Given the description of an element on the screen output the (x, y) to click on. 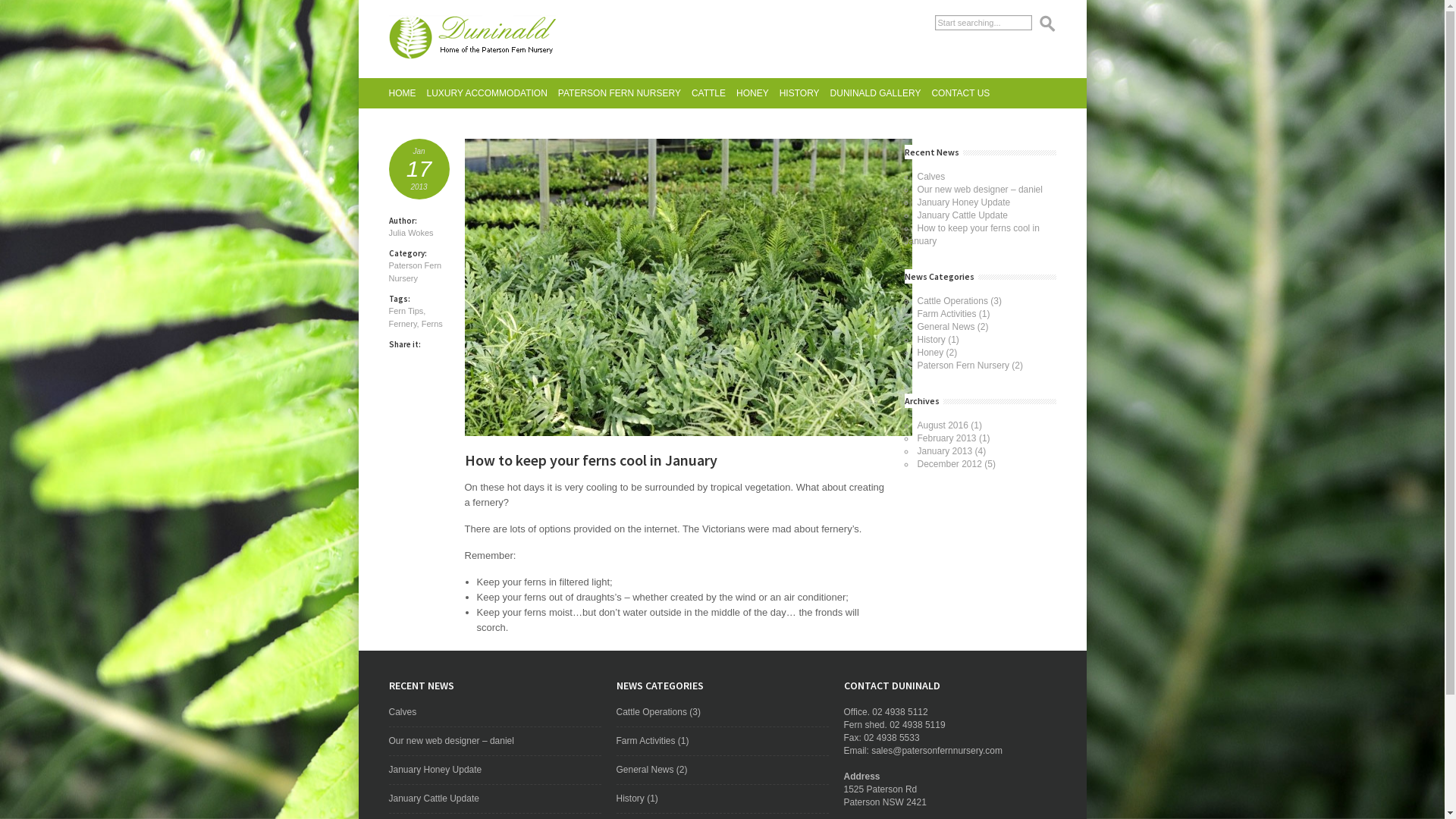
General News Element type: text (946, 326)
January Cattle Update Element type: text (433, 798)
History Element type: text (931, 339)
Honey Element type: text (930, 352)
January Cattle Update Element type: text (962, 215)
Calves Element type: text (931, 176)
HONEY Element type: text (752, 93)
Fern Tips Element type: text (405, 310)
How to keep your ferns cool in January Element type: text (970, 234)
sales@patersonfernnursery.com Element type: text (936, 750)
General News Element type: text (644, 769)
DUNINALD GALLERY Element type: text (875, 93)
Paterson Fern Nursery Element type: text (414, 271)
January Honey Update Element type: text (434, 769)
Cattle Operations Element type: text (952, 300)
Paterson Fern Nursery Element type: text (963, 365)
August 2016 Element type: text (942, 425)
December 2012 Element type: text (949, 463)
February 2013 Element type: text (946, 438)
HISTORY Element type: text (799, 93)
January Honey Update Element type: text (963, 202)
HOME Element type: text (401, 93)
Farm Activities Element type: text (946, 313)
Cattle Operations Element type: text (650, 711)
Calves Element type: text (402, 711)
Fernery Element type: text (402, 323)
Ferns Element type: text (431, 323)
CATTLE Element type: text (708, 93)
Farm Activities Element type: text (644, 740)
January 2013 Element type: text (944, 450)
PATERSON FERN NURSERY Element type: text (619, 93)
CONTACT US Element type: text (960, 93)
History Element type: text (629, 798)
LUXURY ACCOMMODATION Element type: text (486, 93)
